Given the description of an element on the screen output the (x, y) to click on. 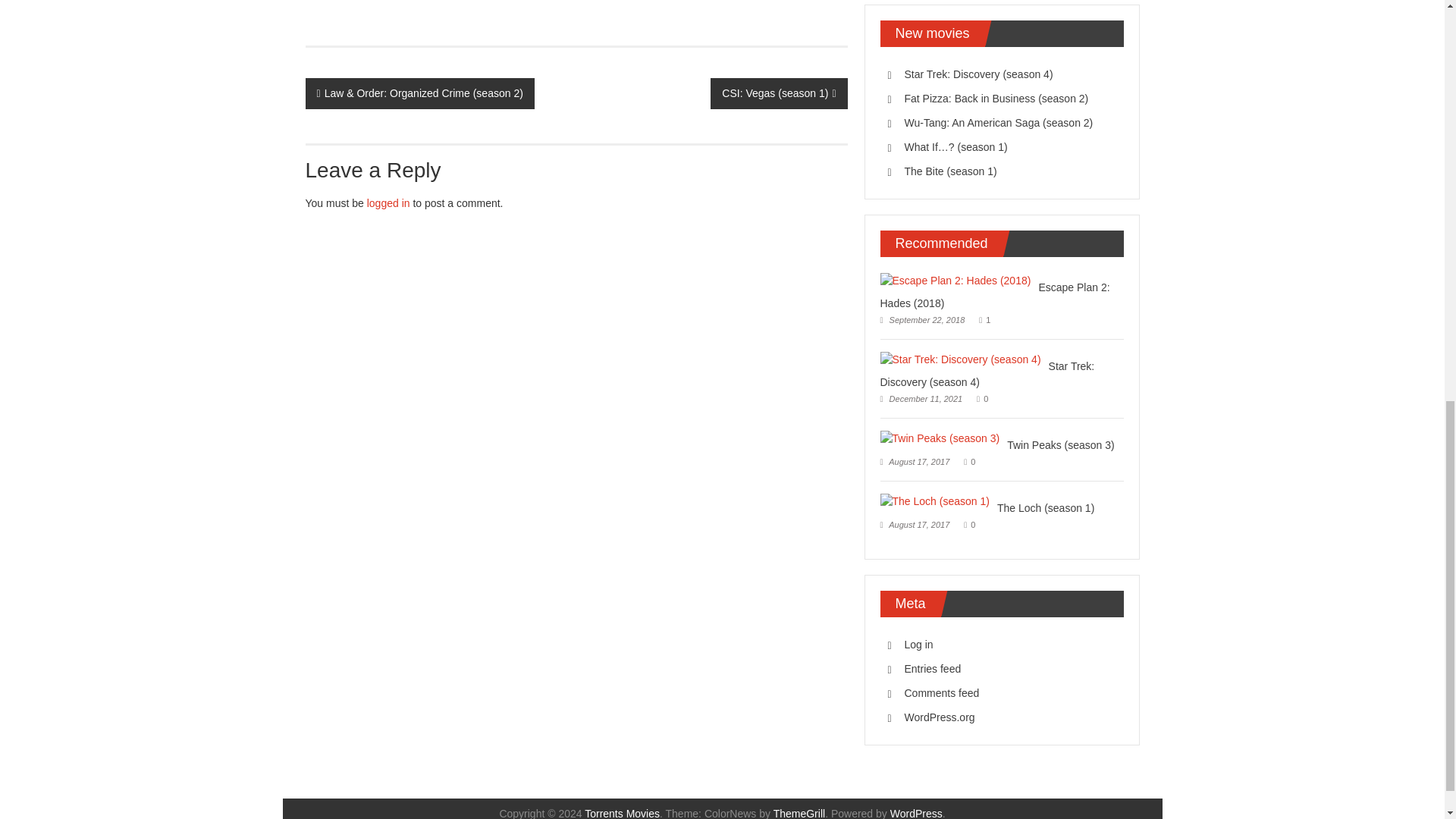
logged in (388, 203)
1:34 pm (921, 319)
4:58 am (920, 398)
